Given the description of an element on the screen output the (x, y) to click on. 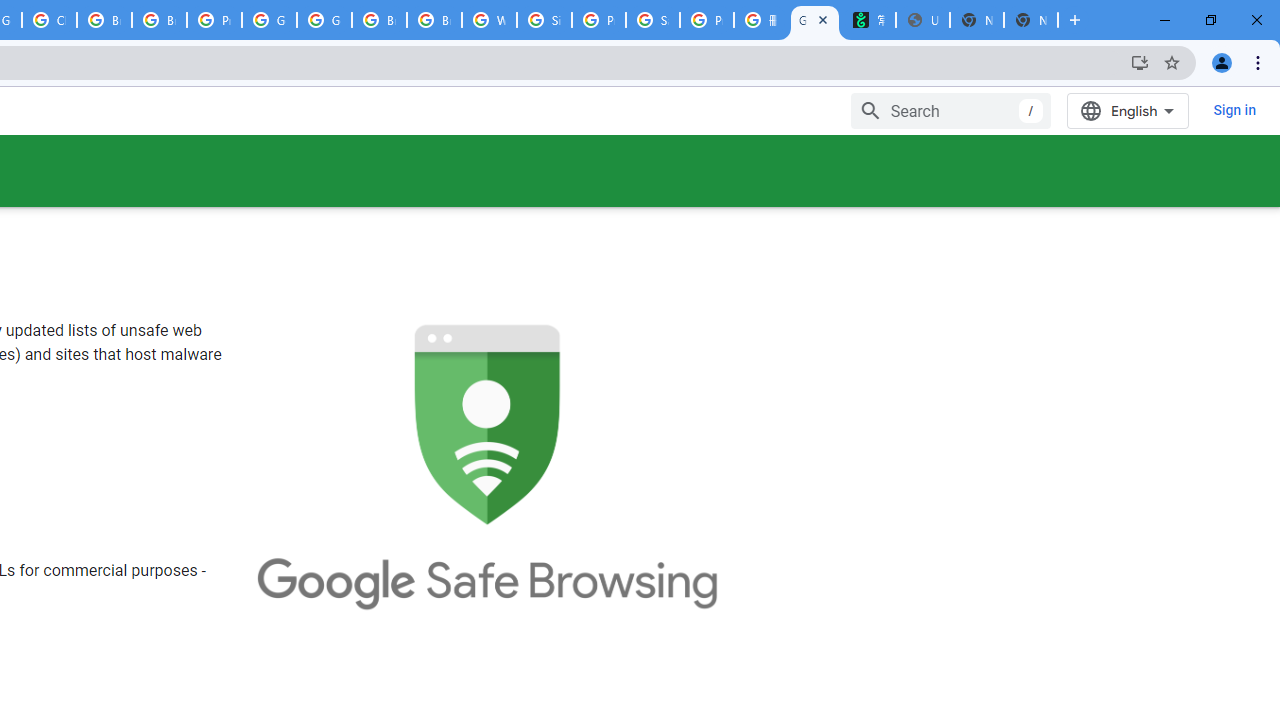
New Tab (1030, 20)
Browse Chrome as a guest - Computer - Google Chrome Help (434, 20)
English (1128, 110)
Browse Chrome as a guest - Computer - Google Chrome Help (158, 20)
Google Cloud Platform (268, 20)
